Given the description of an element on the screen output the (x, y) to click on. 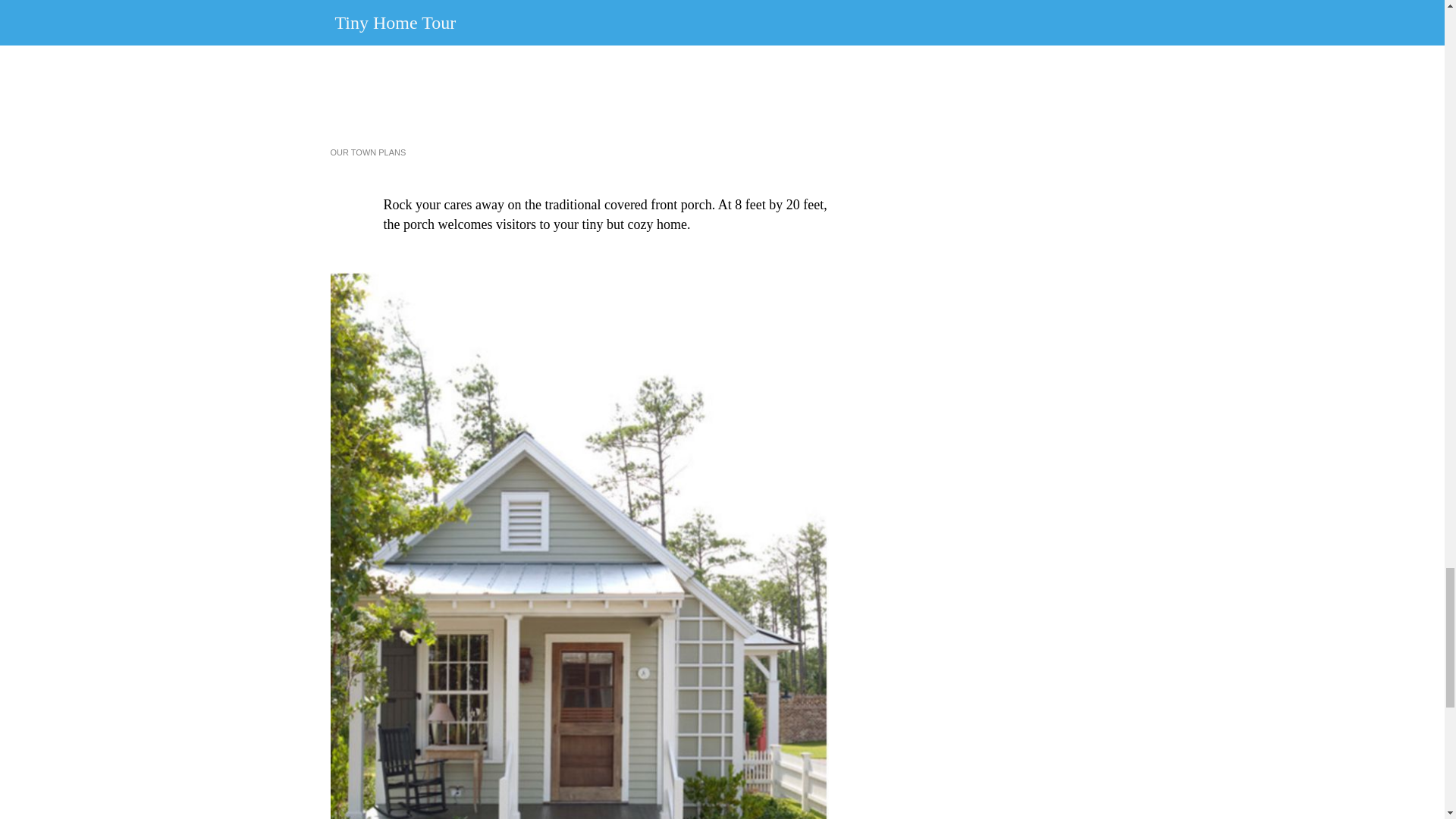
OUR TOWN PLANS (368, 152)
